Given the description of an element on the screen output the (x, y) to click on. 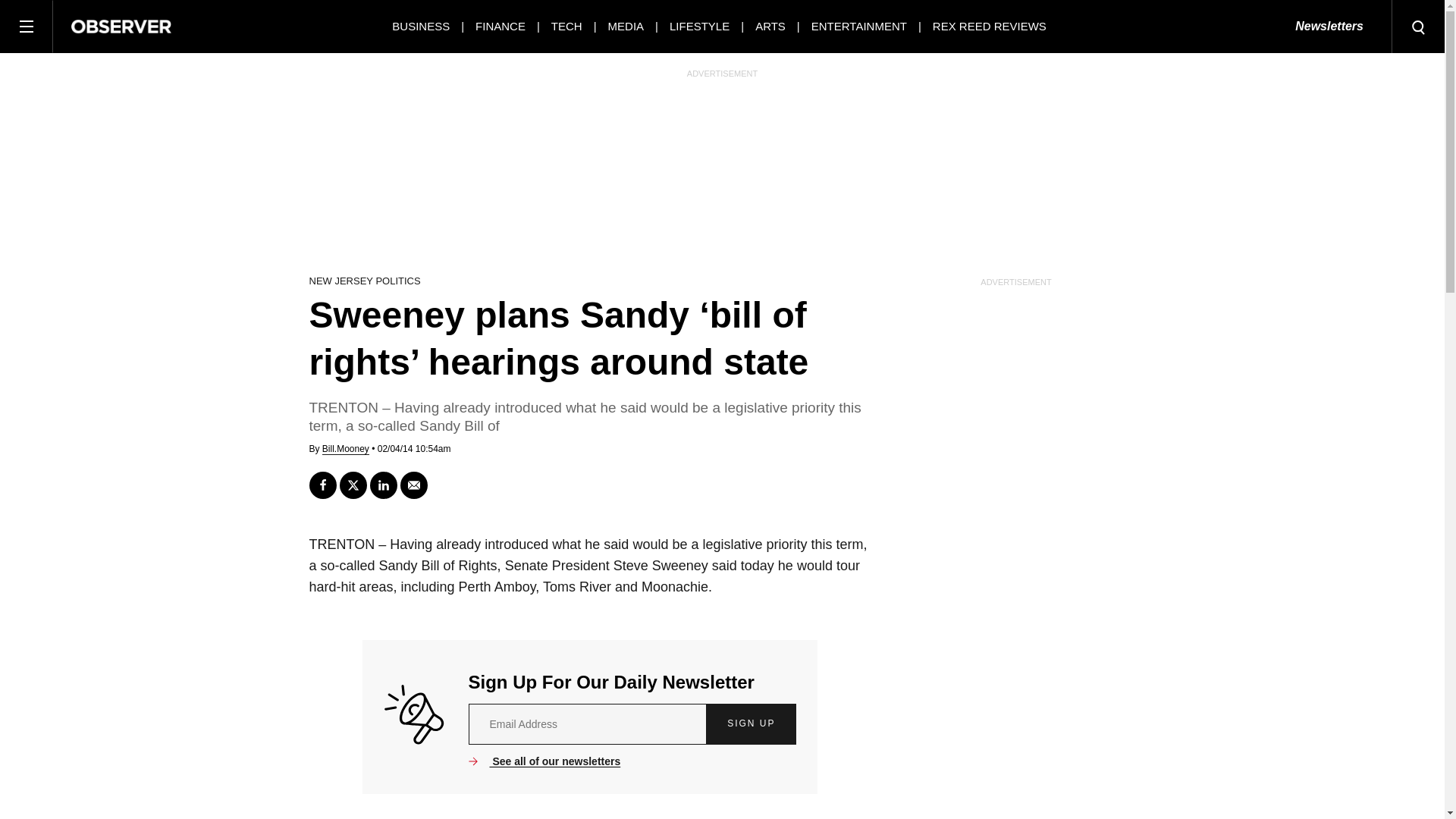
Newsletters (1329, 26)
TECH (566, 25)
Observer (121, 26)
Share on LinkedIn (383, 484)
FINANCE (500, 25)
ENTERTAINMENT (858, 25)
MEDIA (626, 25)
Share on Facebook (322, 484)
View All Posts by Bill.Mooney (345, 449)
Send email (414, 484)
REX REED REVIEWS (989, 25)
ARTS (770, 25)
LIFESTYLE (699, 25)
Tweet (352, 484)
BUSINESS (420, 25)
